Given the description of an element on the screen output the (x, y) to click on. 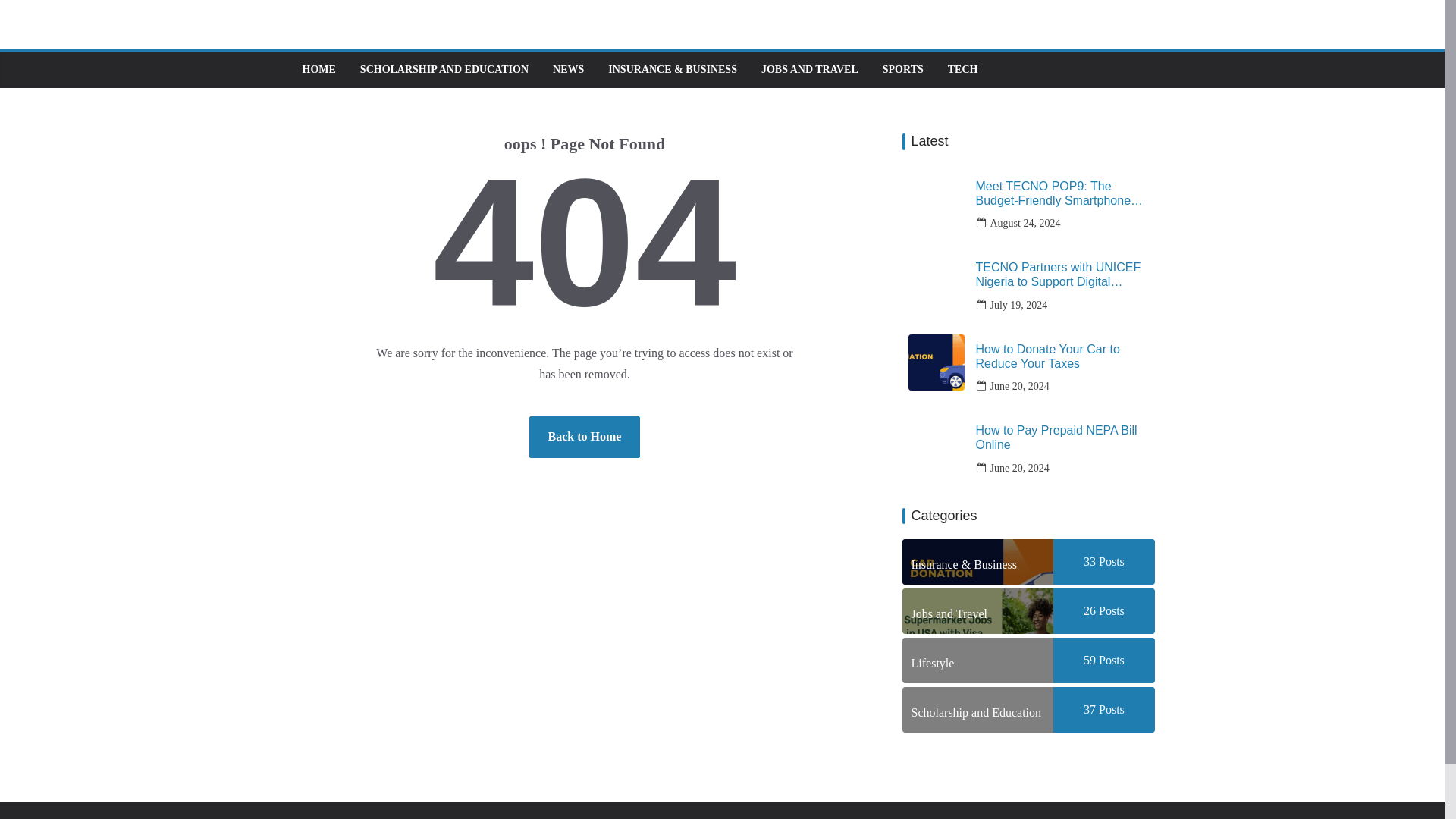
SPORTS (902, 69)
July 19, 2024 (1019, 304)
Posts (1110, 708)
37 (1089, 708)
59 (1089, 659)
TECH (962, 69)
26 (1089, 610)
June 20, 2024 (1019, 385)
33 (1089, 561)
